Given the description of an element on the screen output the (x, y) to click on. 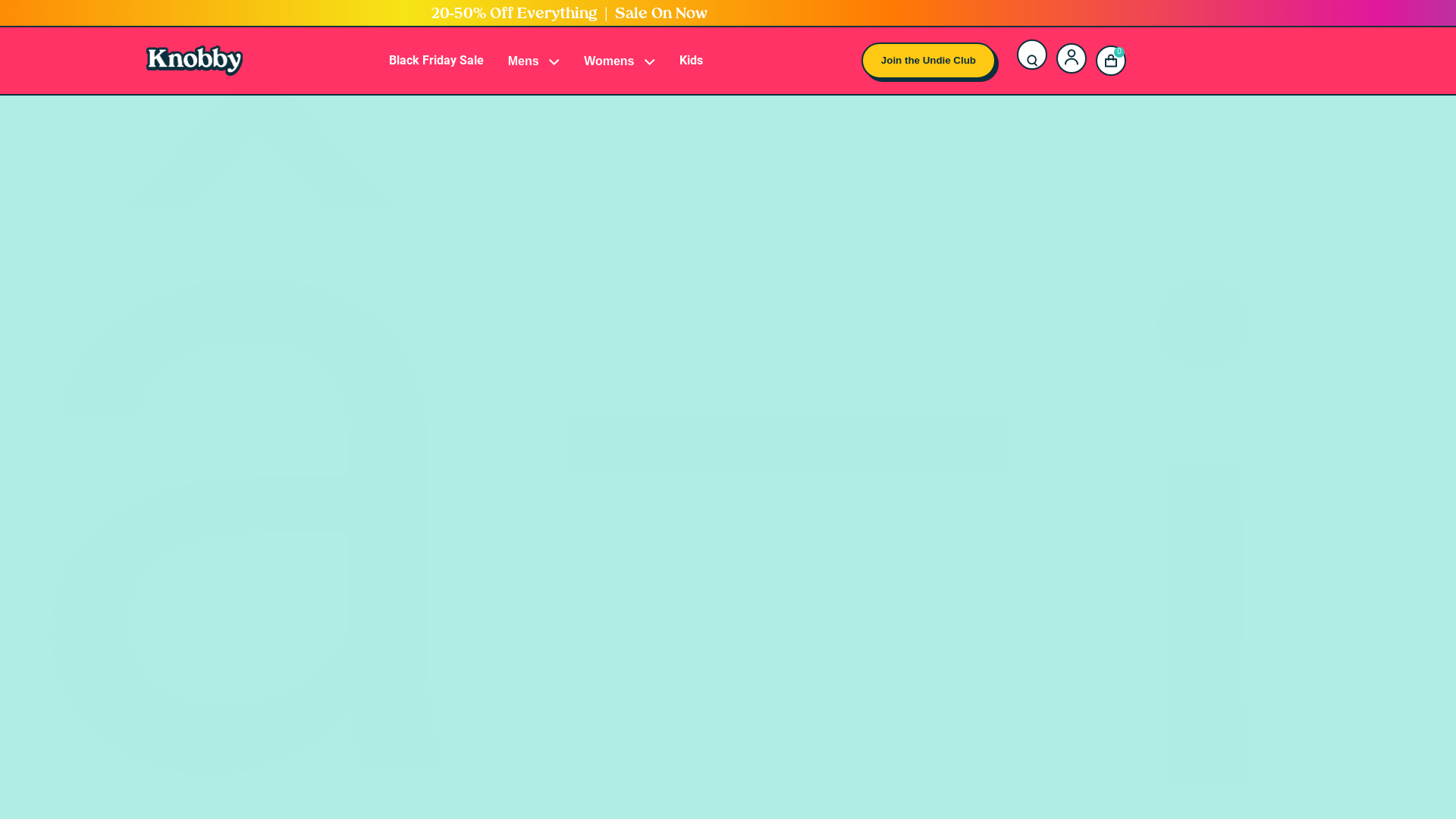
Shipping Element type: text (539, 402)
the shop Element type: text (879, 536)
Mens Element type: text (533, 59)
Kids Element type: text (691, 59)
Blog Element type: text (539, 298)
Ambassadors Element type: text (539, 250)
home page Element type: text (739, 536)
The Story Element type: text (539, 225)
Black Friday Sale Element type: text (435, 59)
Legal Element type: text (539, 426)
Size Guide Element type: text (539, 354)
Loyalty Program Element type: text (539, 274)
Contact Us Element type: text (539, 378)
FAQ Element type: text (539, 451)
20-50% Off Everything  |  Sale On Now Element type: text (568, 14)
Womens Element type: text (619, 59)
Sitemap Element type: text (539, 475)
0 Element type: text (1110, 60)
Join the Undie Club Element type: text (928, 60)
